Given the description of an element on the screen output the (x, y) to click on. 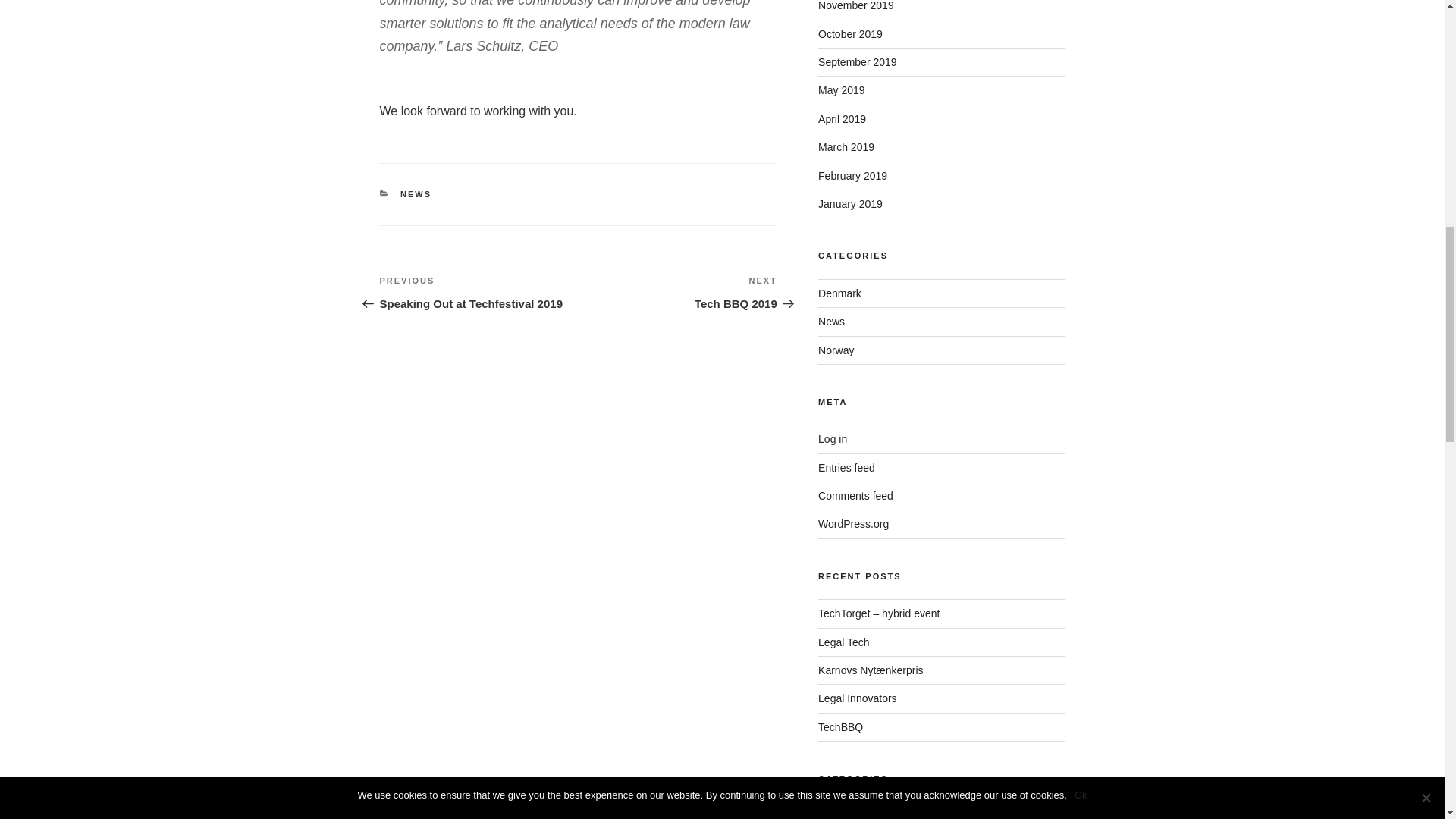
May 2019 (478, 292)
April 2019 (841, 90)
November 2019 (677, 292)
NEWS (842, 119)
September 2019 (855, 5)
October 2019 (415, 194)
